Given the description of an element on the screen output the (x, y) to click on. 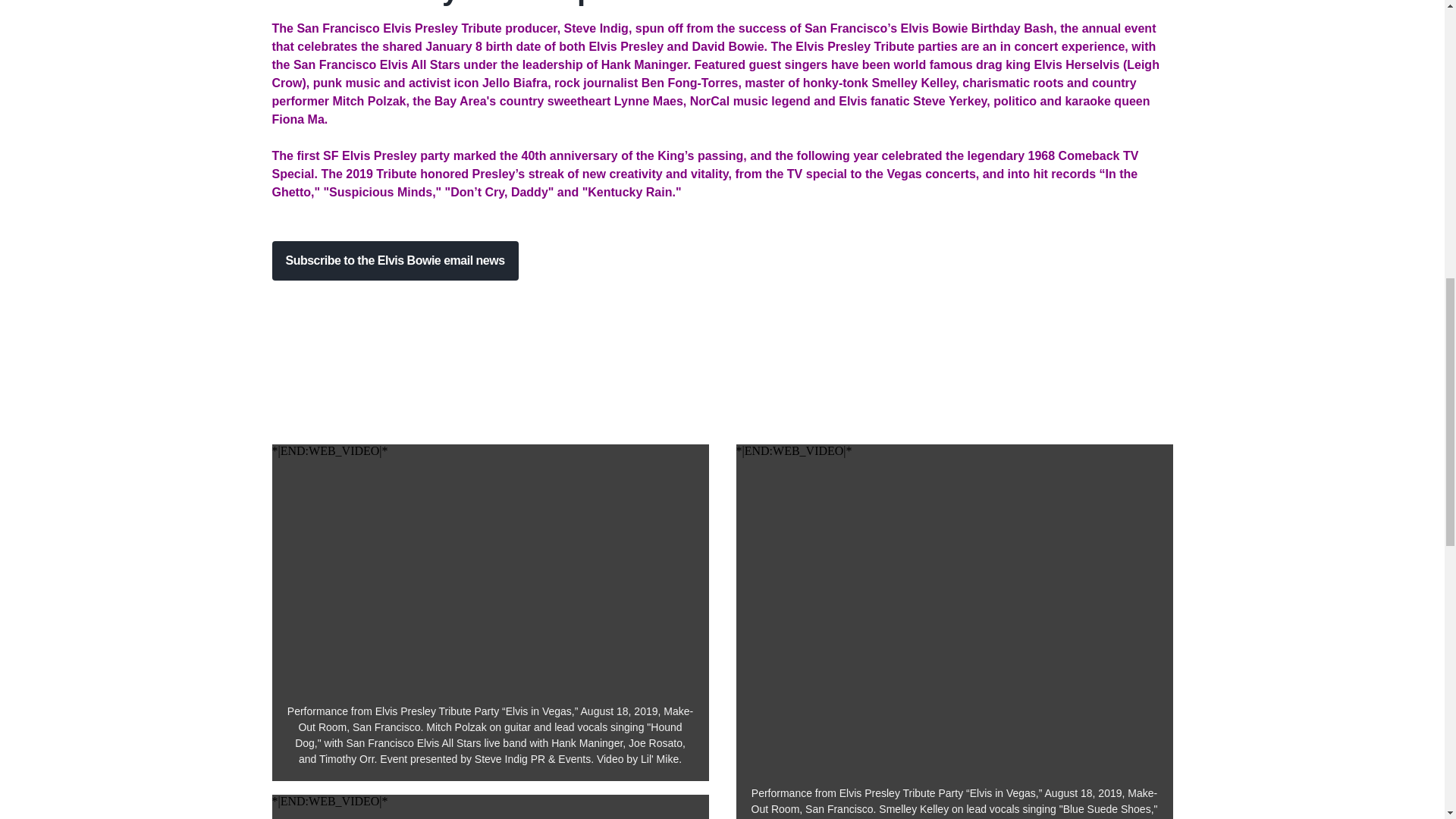
Subscribe to the Elvis Bowie email news (394, 260)
Subscribe to the Elvis Bowie email news (394, 260)
